Given the description of an element on the screen output the (x, y) to click on. 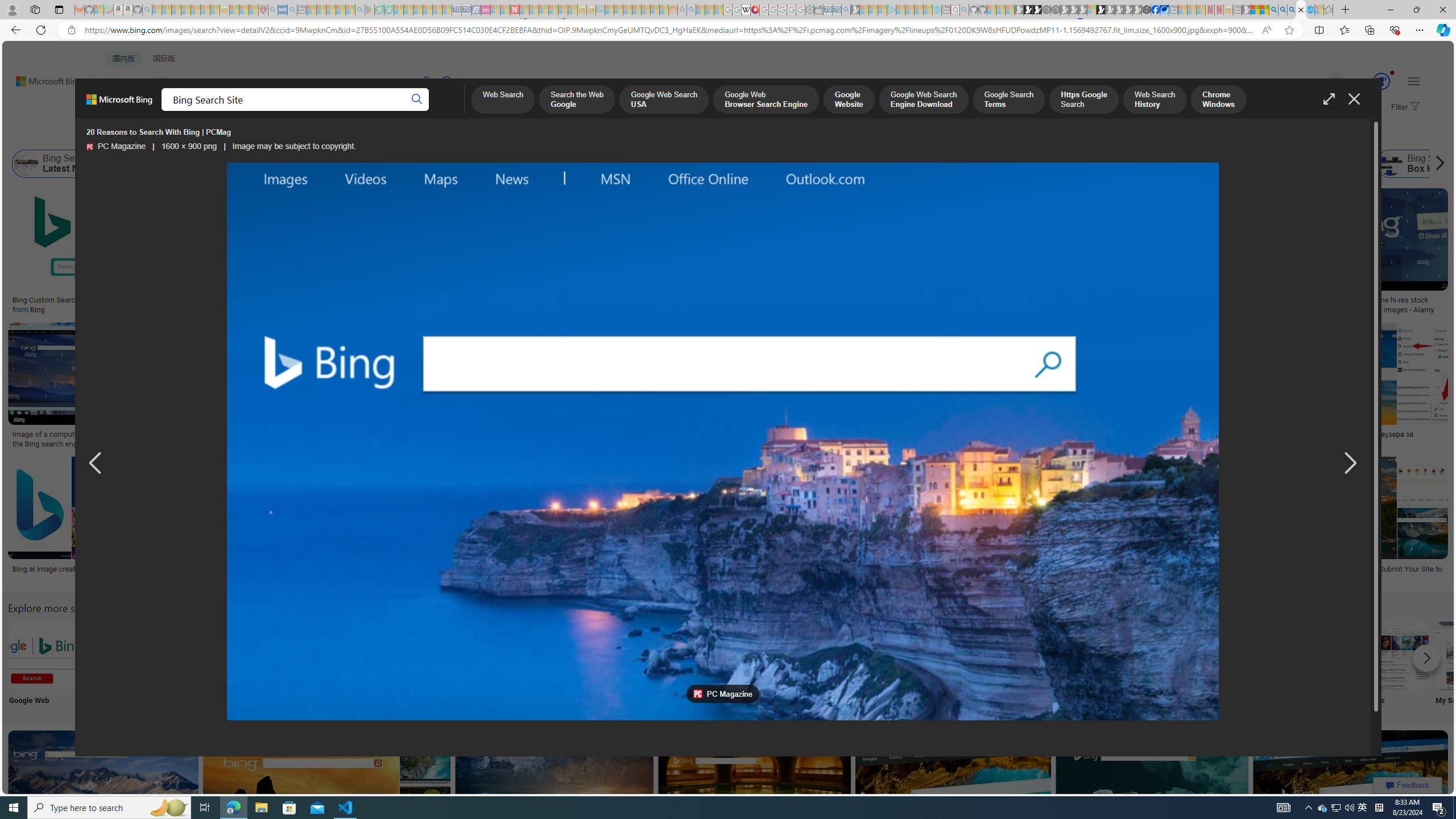
Web Search History (1154, 100)
Scroll more suggestions right (1426, 658)
WEB (114, 111)
Google Website (848, 100)
Bing Photo Search Microsoft Edge (268, 654)
Bing Advanced Search Tricks You Should Know (722, 441)
Bing Search App Icon App Icon (418, 665)
Bing Custom Search: A New Site Search Solution from Bing (96, 304)
